Given the description of an element on the screen output the (x, y) to click on. 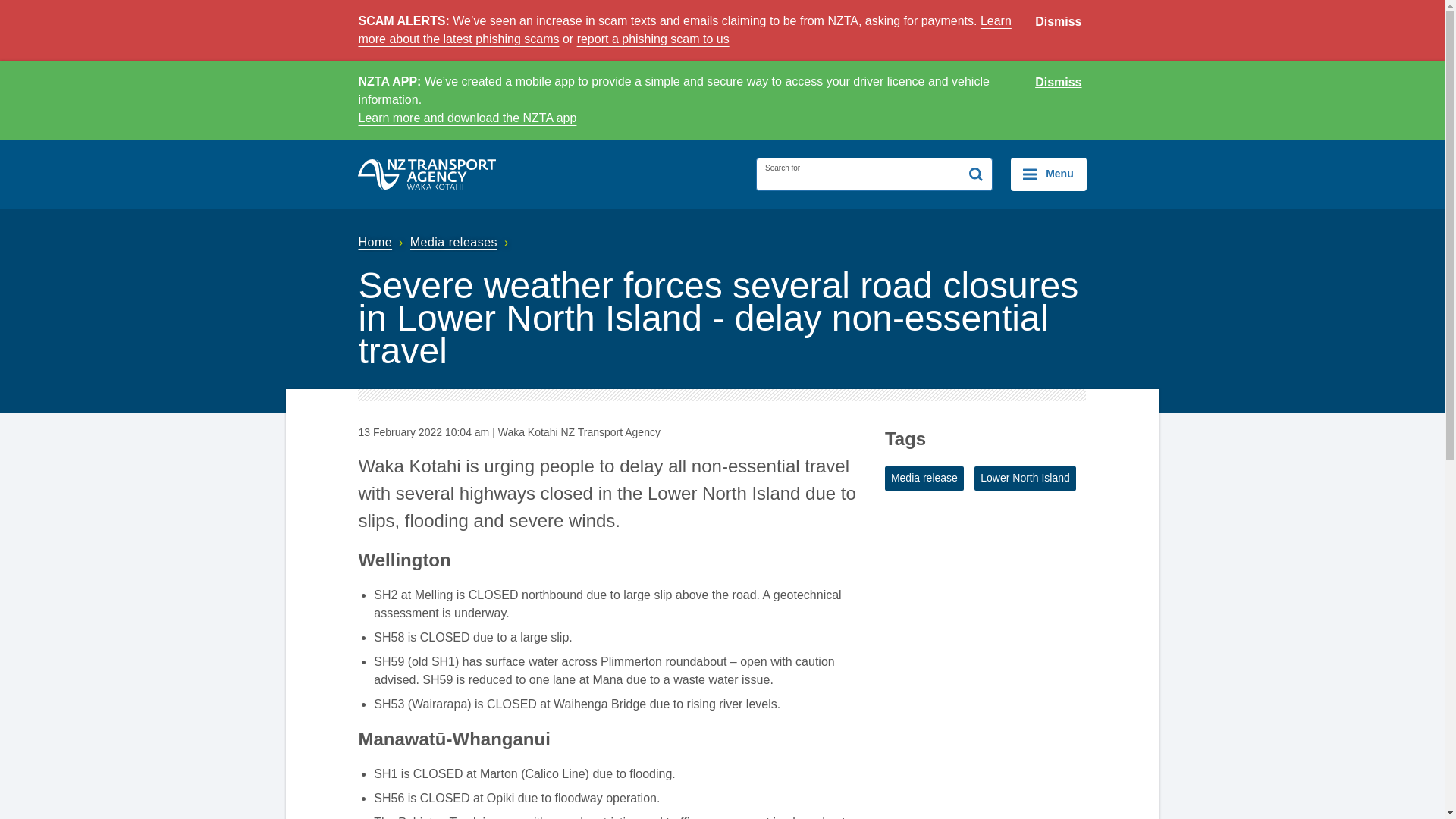
View all posts tagged 'Lower North Island' (1024, 478)
report a phishing scam to us (652, 38)
Learn more and download the NZTA app (467, 117)
Dismiss (1058, 21)
Menu (1048, 174)
Learn more about the latest phishing scams (684, 29)
View all posts tagged 'Media release' (924, 478)
Home (382, 241)
Dismiss (1058, 82)
NZ Transport Agency Waka Kotahi (427, 173)
